Given the description of an element on the screen output the (x, y) to click on. 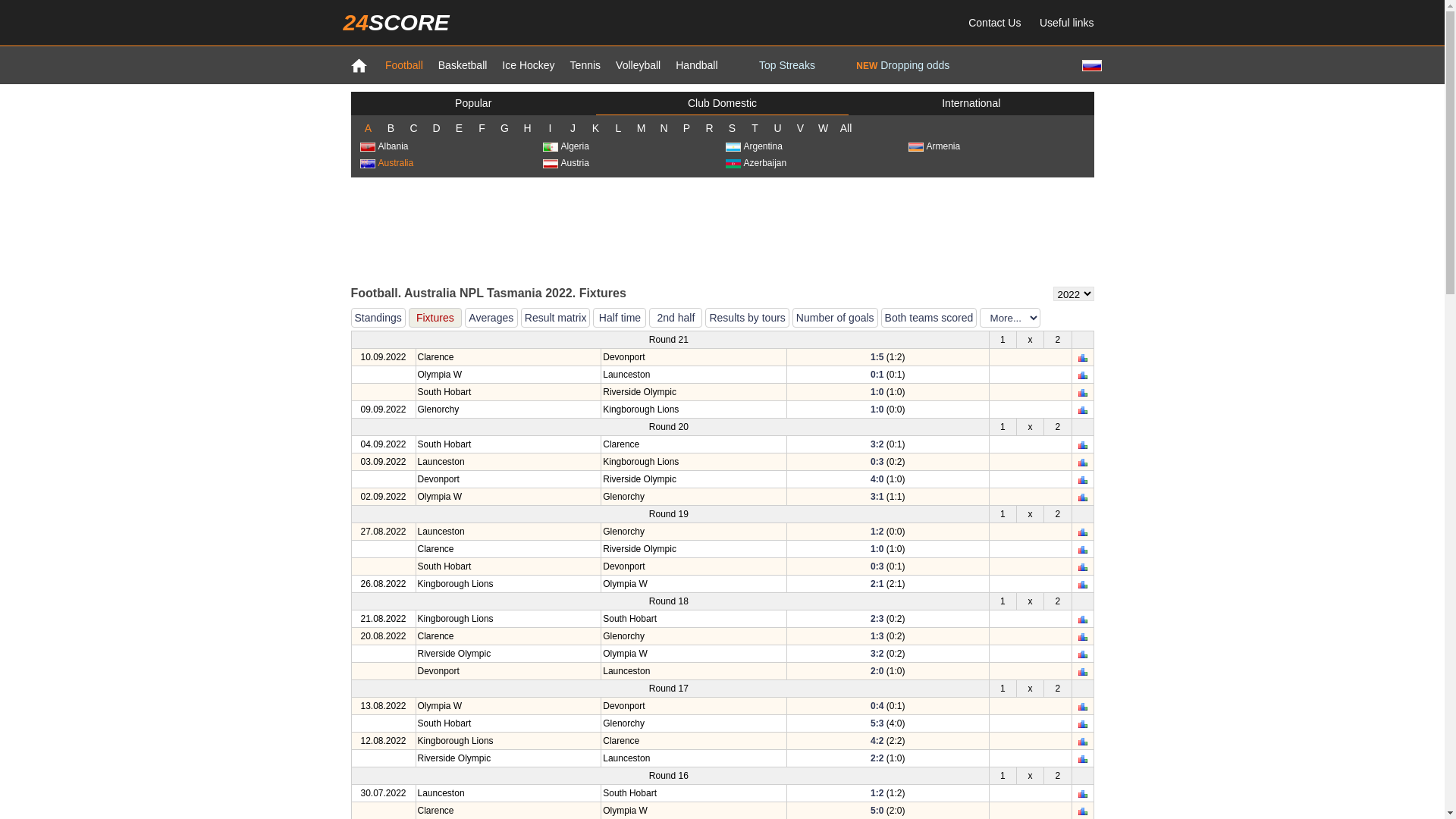
Fixtures Element type: text (434, 317)
1:5 Element type: text (876, 356)
0:4 Element type: text (876, 705)
P Element type: text (685, 128)
M Element type: text (640, 128)
2:2 Element type: text (876, 758)
Useful links Element type: text (1066, 22)
0:1 Element type: text (876, 374)
2:1 Element type: text (876, 583)
1:2 Element type: text (876, 792)
Football Element type: text (403, 64)
1:0 Element type: text (876, 409)
2:3 Element type: text (876, 618)
Club Domestic Element type: text (722, 103)
0:3 Element type: text (876, 566)
Results by tours Element type: text (746, 317)
International Element type: text (970, 102)
I Element type: text (549, 128)
L Element type: text (617, 128)
G Element type: text (503, 128)
Volleyball Element type: text (638, 64)
Top Streaks Element type: text (786, 64)
2nd half Element type: text (675, 317)
Half time Element type: text (619, 317)
C Element type: text (412, 128)
W Element type: text (822, 128)
3:2 Element type: text (876, 444)
N Element type: text (663, 128)
1:0 Element type: text (876, 548)
3:2 Element type: text (876, 653)
Ice Hockey Element type: text (527, 64)
3:1 Element type: text (876, 496)
A Element type: text (367, 128)
4:0 Element type: text (876, 478)
B Element type: text (390, 128)
D Element type: text (435, 128)
Handball Element type: text (696, 64)
24SCORE Element type: text (395, 21)
R Element type: text (708, 128)
5:0 Element type: text (876, 810)
H Element type: text (526, 128)
0:3 Element type: text (876, 461)
V Element type: text (799, 128)
Contact Us Element type: text (994, 22)
4:2 Element type: text (876, 740)
Popular Element type: text (472, 102)
Averages Element type: text (490, 317)
5:3 Element type: text (876, 723)
S Element type: text (731, 128)
All Element type: text (845, 128)
K Element type: text (594, 128)
Number of goals Element type: text (835, 317)
1:0 Element type: text (876, 391)
Tennis Element type: text (585, 64)
F Element type: text (481, 128)
2:0 Element type: text (876, 670)
Both teams scored Element type: text (929, 317)
NEW Dropping odds Element type: text (902, 65)
Advertisement Element type: hover (721, 230)
J Element type: text (572, 128)
1:3 Element type: text (876, 635)
Standings Element type: text (377, 317)
T Element type: text (754, 128)
1:2 Element type: text (876, 531)
Result matrix Element type: text (555, 317)
U Element type: text (776, 128)
E Element type: text (458, 128)
Basketball Element type: text (462, 64)
